Given the description of an element on the screen output the (x, y) to click on. 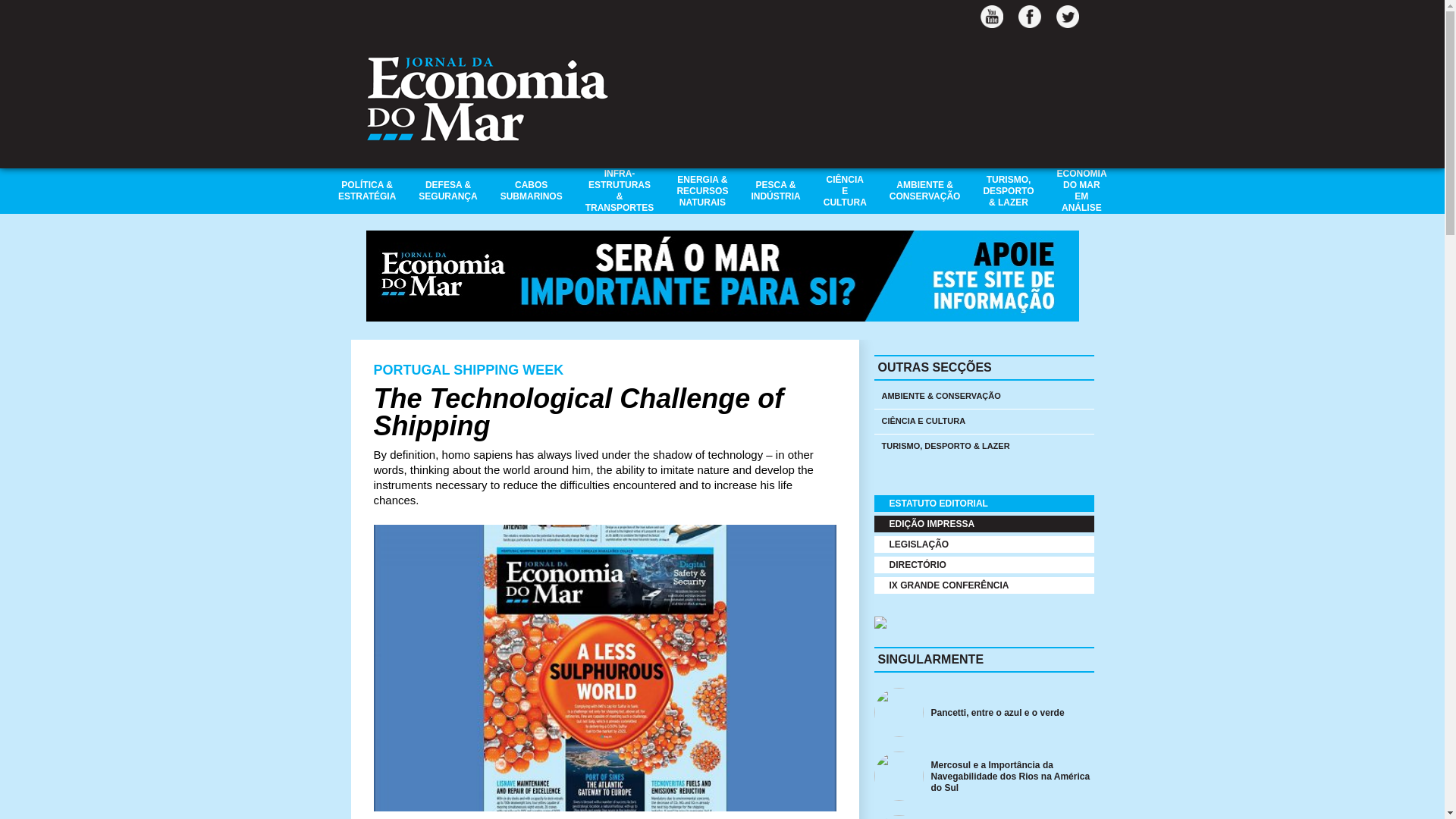
ESTATUTO EDITORIAL (983, 503)
PORTUGAL SHIPPING WEEK (467, 369)
SINGULARMENTE (930, 658)
CABOS SUBMARINOS (531, 190)
The Technological Challenge of Shipping (577, 412)
